Given the description of an element on the screen output the (x, y) to click on. 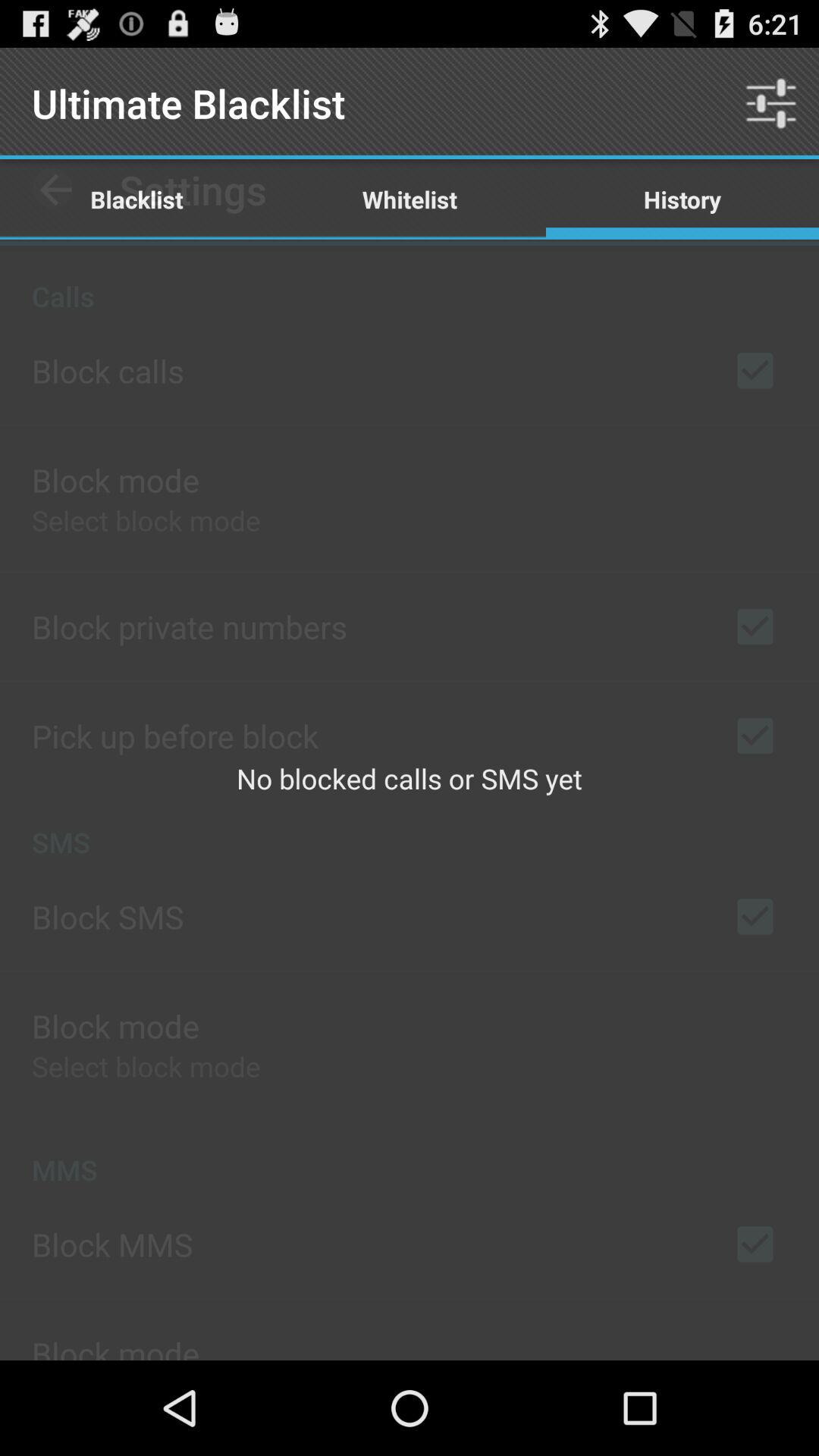
turn off item to the right of the blacklist item (409, 199)
